Given the description of an element on the screen output the (x, y) to click on. 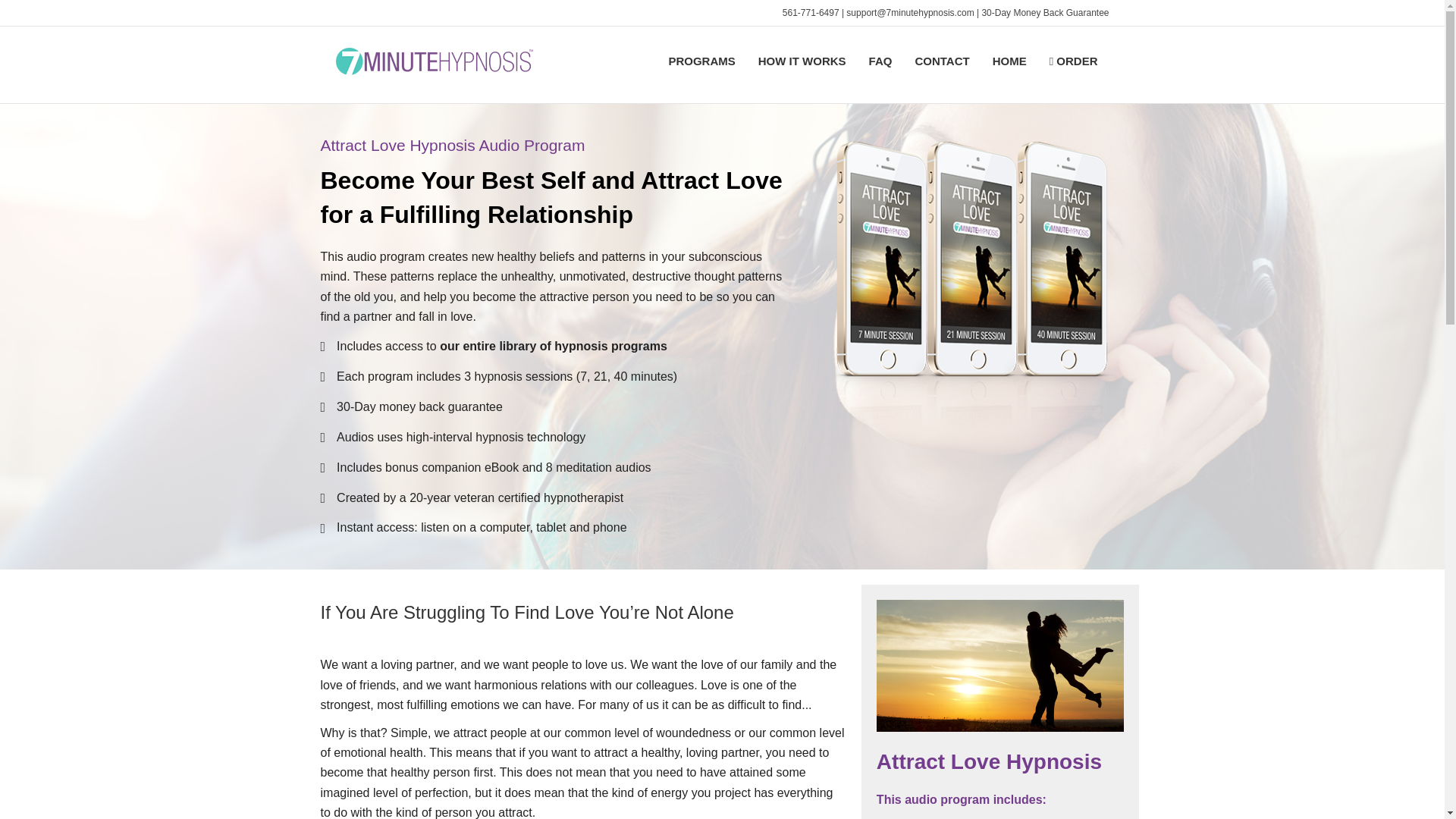
HOME (1009, 60)
CONTACT (940, 60)
attract-love (979, 283)
PROGRAMS (700, 60)
HOW IT WORKS (801, 60)
attracting-love (1000, 665)
ORDER (1073, 60)
FAQ (880, 60)
